Given the description of an element on the screen output the (x, y) to click on. 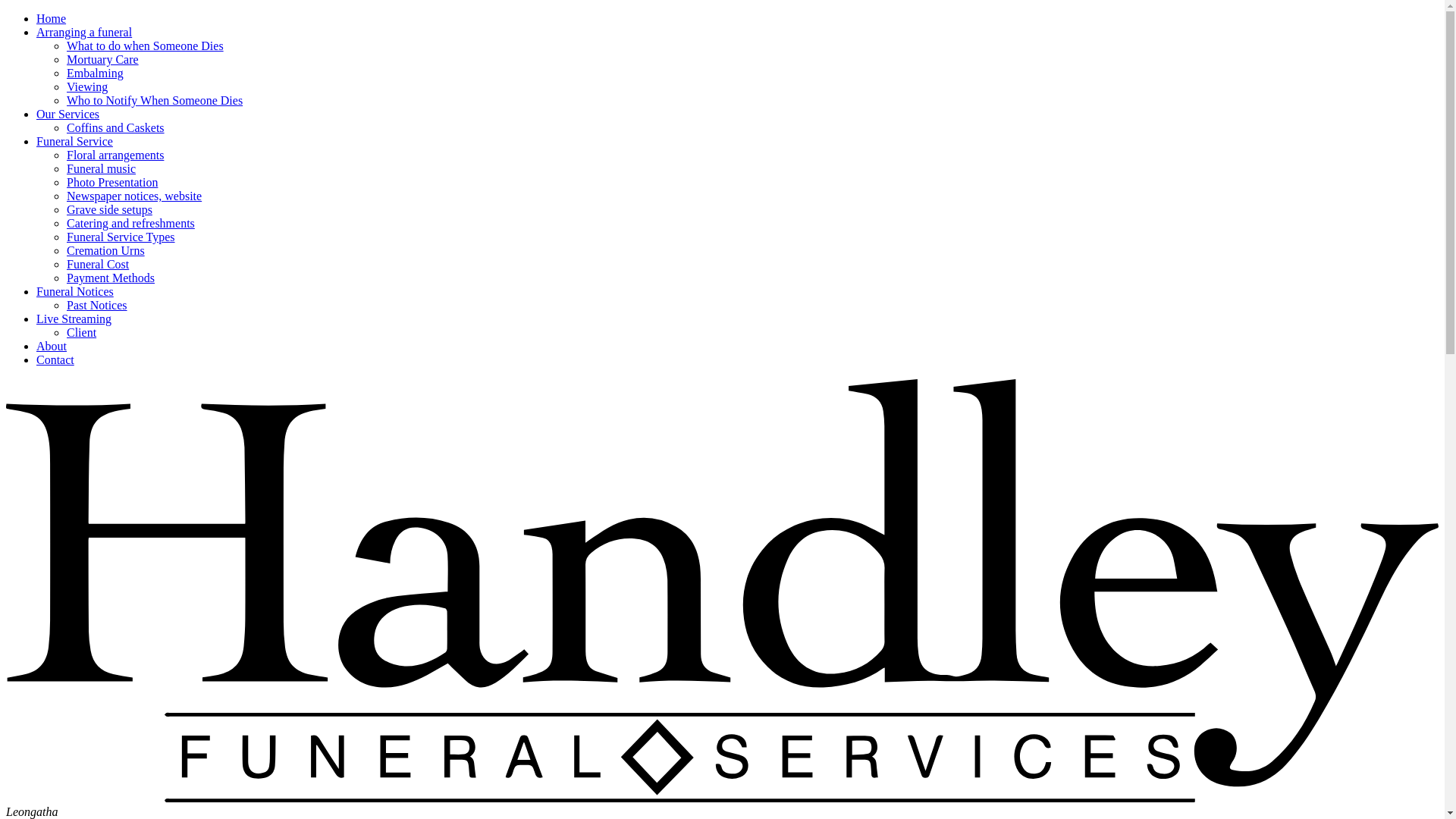
Cremation Urns Element type: text (105, 250)
Client Element type: text (81, 332)
Funeral Notices Element type: text (74, 291)
About Element type: text (51, 345)
Catering and refreshments Element type: text (130, 222)
Viewing Element type: text (86, 86)
Payment Methods Element type: text (110, 277)
Funeral Cost Element type: text (97, 263)
Funeral music Element type: text (100, 168)
Contact Element type: text (55, 359)
Coffins and Caskets Element type: text (115, 127)
Our Services Element type: text (67, 113)
Photo Presentation Element type: text (111, 181)
What to do when Someone Dies Element type: text (144, 45)
Live Streaming Element type: text (73, 318)
Past Notices Element type: text (96, 304)
Newspaper notices, website Element type: text (133, 195)
Floral arrangements Element type: text (114, 154)
Embalming Element type: text (94, 72)
Funeral Service Types Element type: text (120, 236)
Mortuary Care Element type: text (102, 59)
Arranging a funeral Element type: text (83, 31)
Grave side setups Element type: text (109, 209)
Funeral Service Element type: text (74, 140)
Who to Notify When Someone Dies Element type: text (154, 100)
Home Element type: text (50, 18)
